Given the description of an element on the screen output the (x, y) to click on. 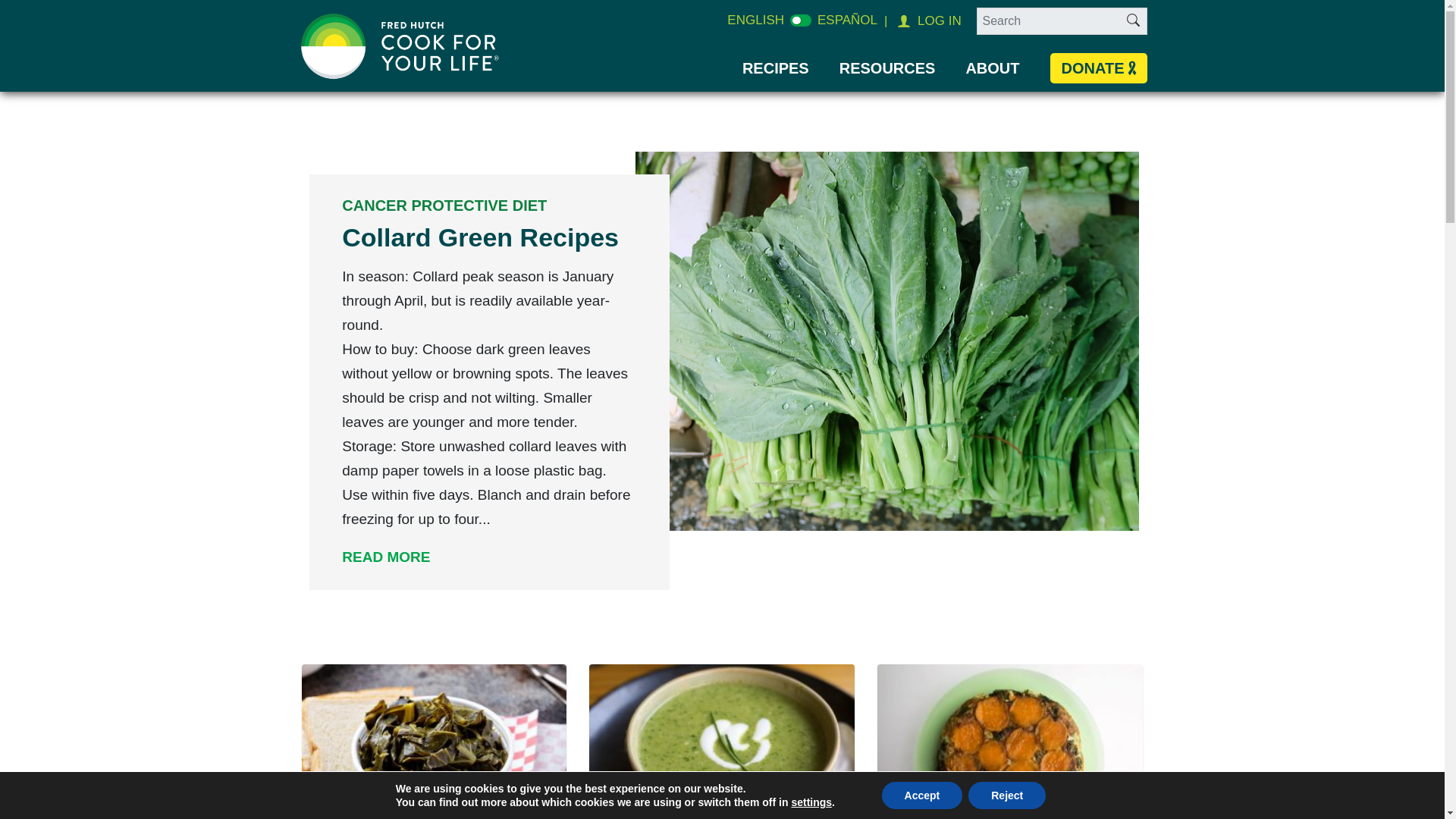
ENGLISH (755, 20)
RECIPES (775, 67)
Search (1133, 22)
LOG IN (936, 20)
